Given the description of an element on the screen output the (x, y) to click on. 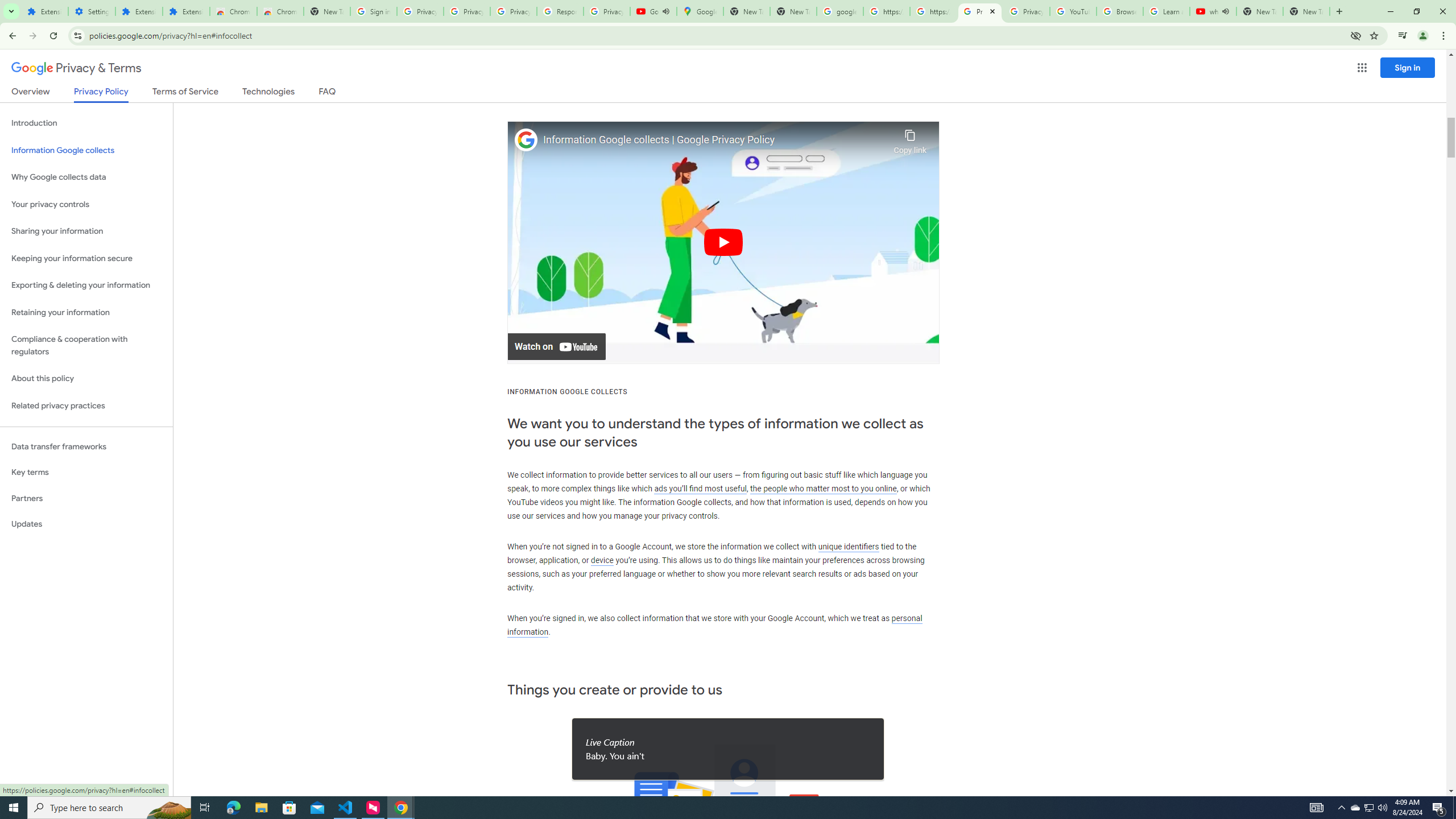
Your privacy controls (86, 204)
Watch on YouTube (556, 346)
Keeping your information secure (86, 258)
Information Google collects (86, 150)
Chrome Web Store (233, 11)
About this policy (86, 379)
Information Google collects | Google Privacy Policy (715, 140)
